Given the description of an element on the screen output the (x, y) to click on. 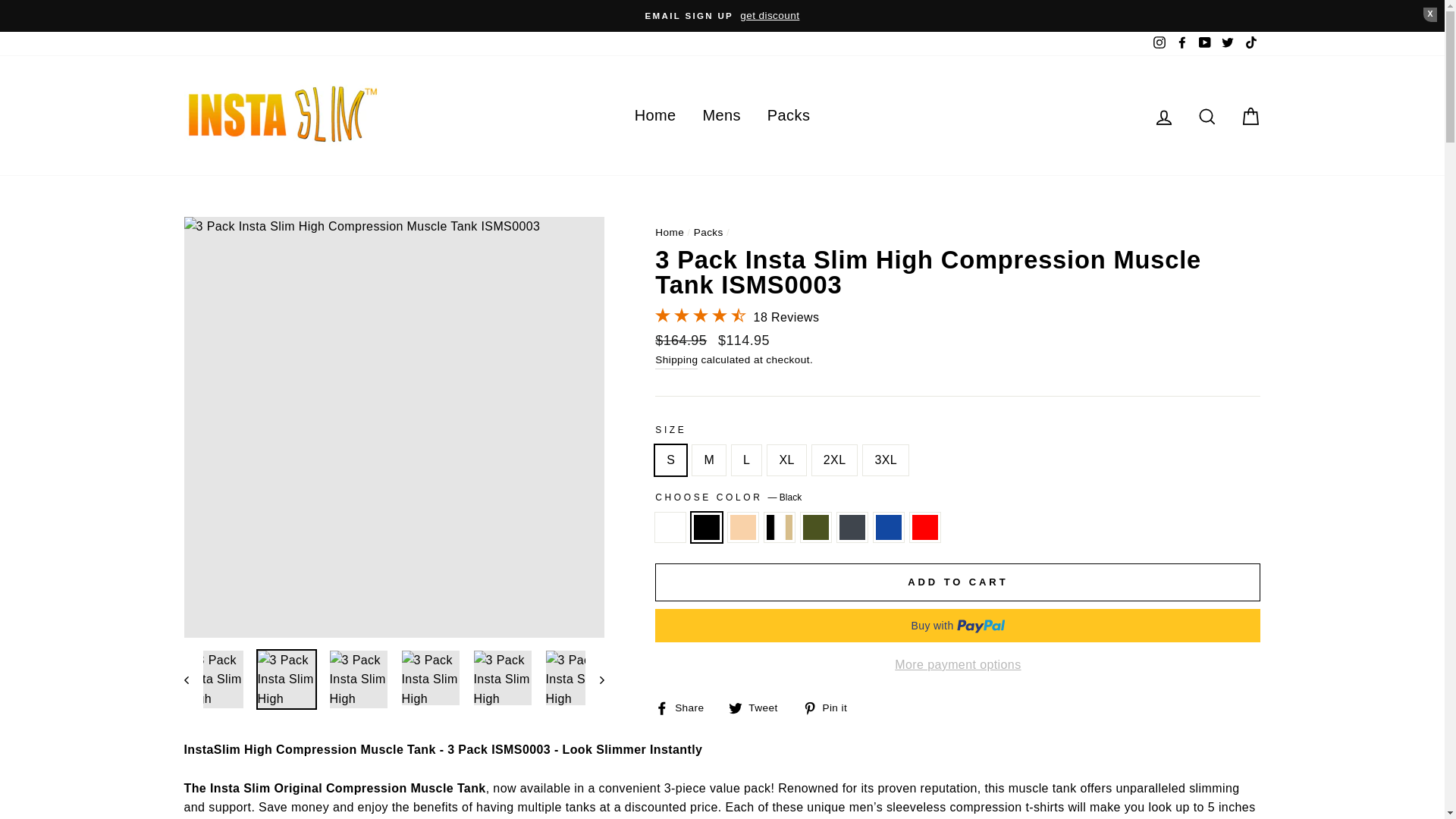
Instagram (1159, 43)
Insta Slim on Facebook (1182, 43)
Tweet on Twitter (759, 708)
TikTok (1250, 43)
Insta Slim on Instagram (1159, 43)
YouTube (1204, 43)
Share on Facebook (684, 708)
Insta Slim on YouTube (1204, 43)
Packs (788, 114)
Mens (721, 114)
